Given the description of an element on the screen output the (x, y) to click on. 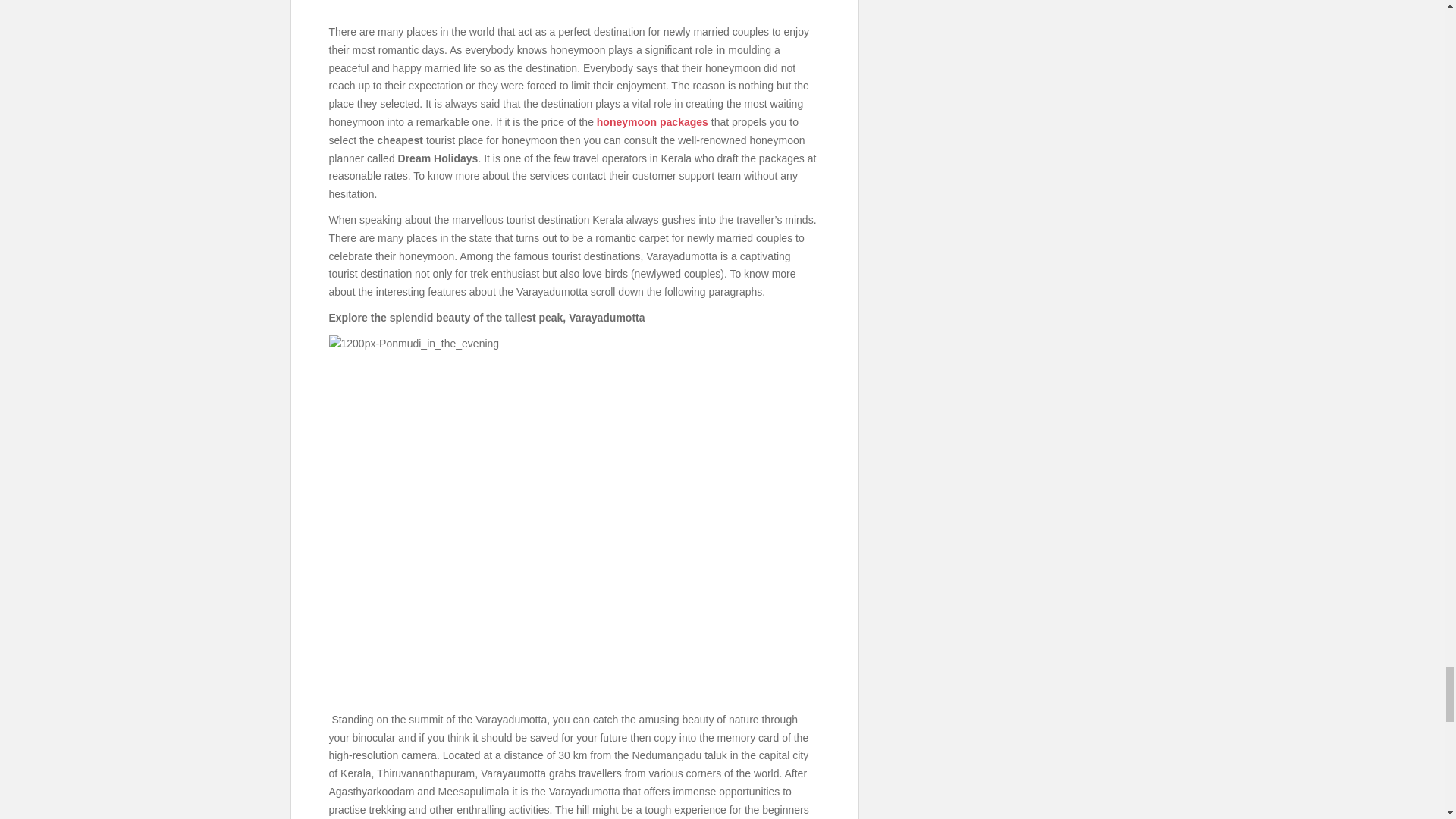
honeymoon packages (651, 121)
